Given the description of an element on the screen output the (x, y) to click on. 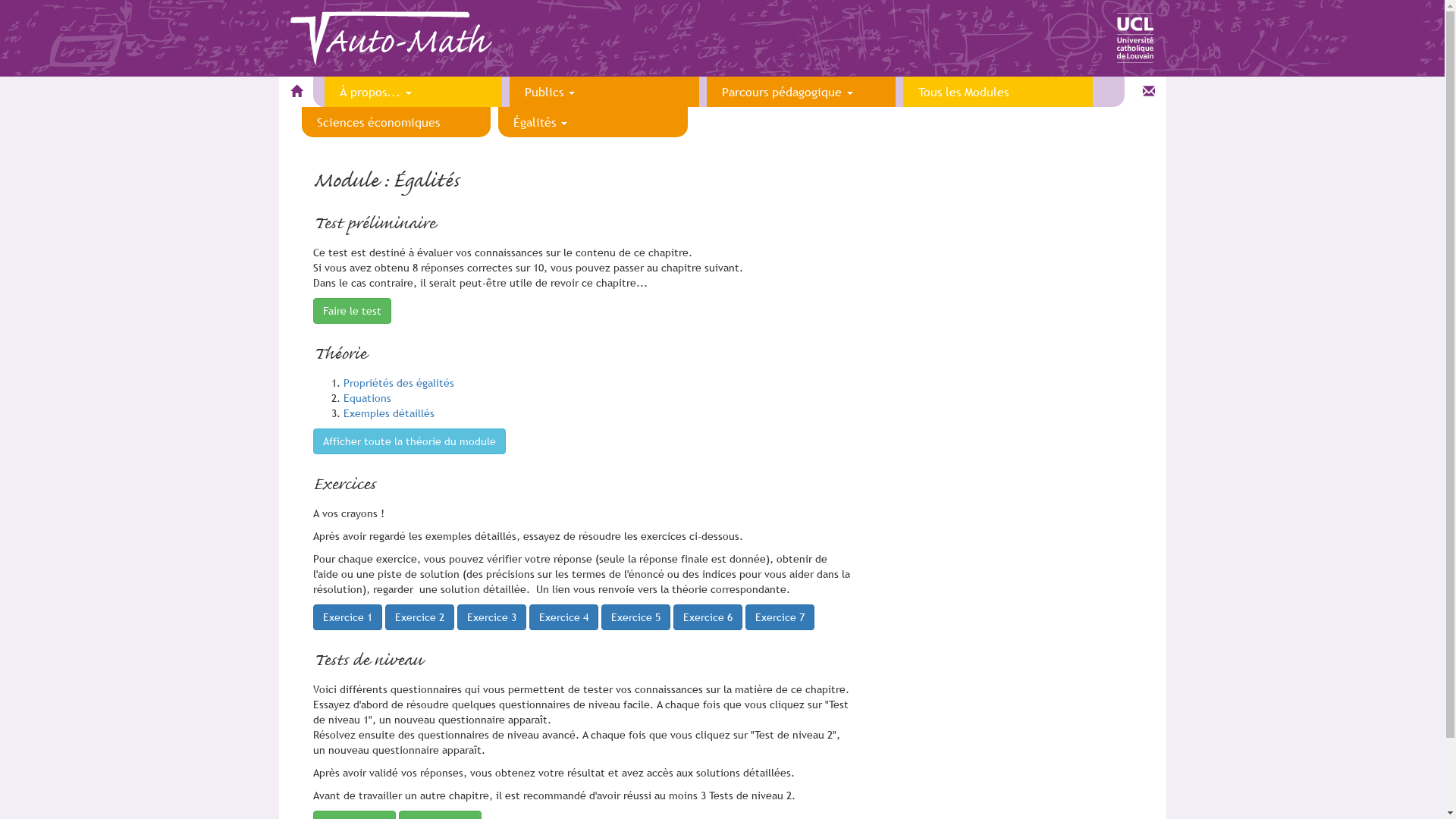
Auto-Math Element type: text (405, 42)
Equations Element type: text (366, 397)
Tous les Modules Element type: text (997, 91)
Exercice 3 Element type: text (490, 617)
Exercice 2 Element type: text (419, 617)
Exercice 5 Element type: text (634, 617)
Exercice 1 Element type: text (346, 617)
Faire le test Element type: text (351, 310)
Publics Element type: text (604, 91)
Exercice 4 Element type: text (563, 617)
Exercice 7 Element type: text (778, 617)
Exercice 6 Element type: text (707, 617)
